Given the description of an element on the screen output the (x, y) to click on. 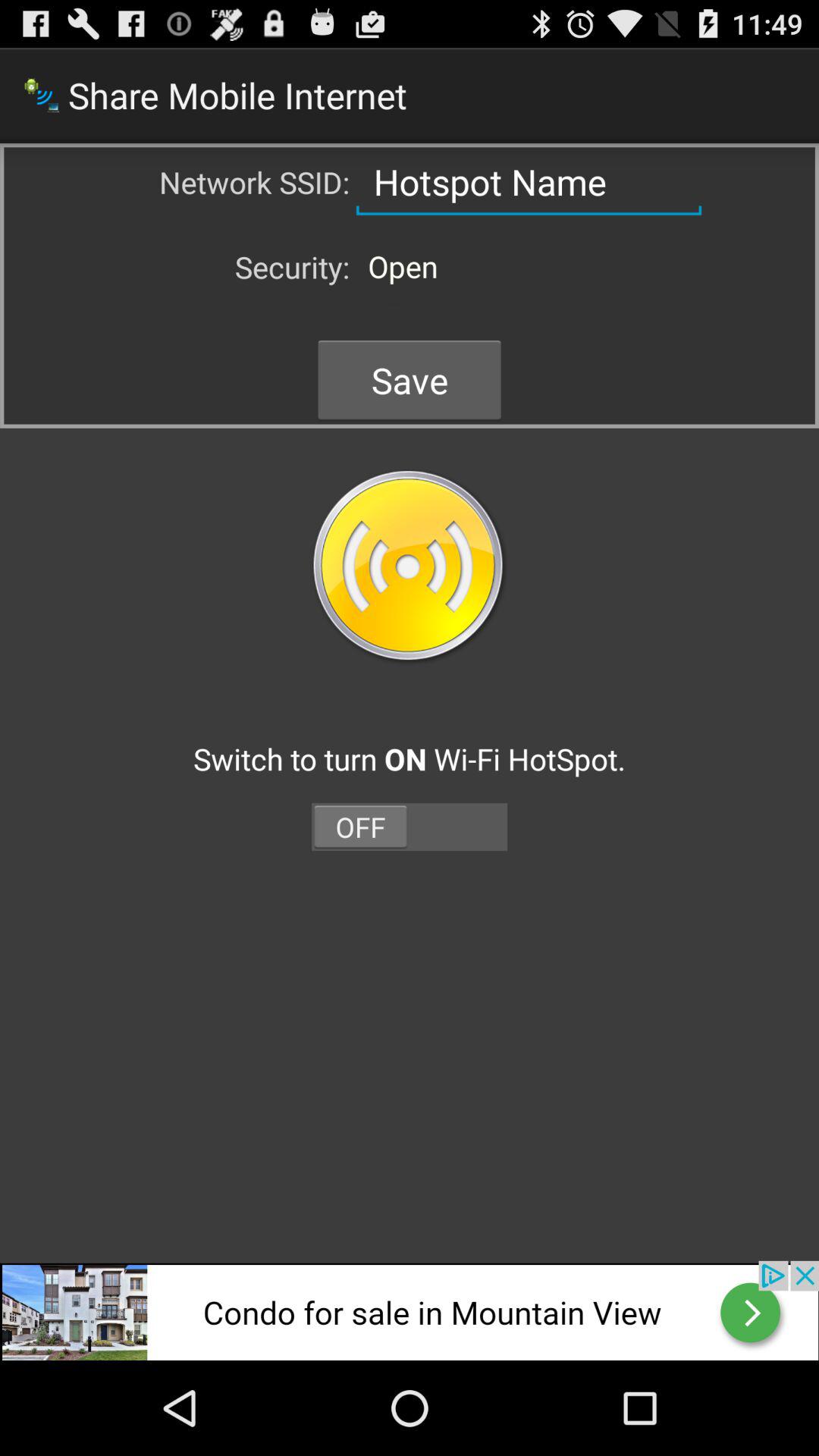
wifi on button (409, 567)
